Given the description of an element on the screen output the (x, y) to click on. 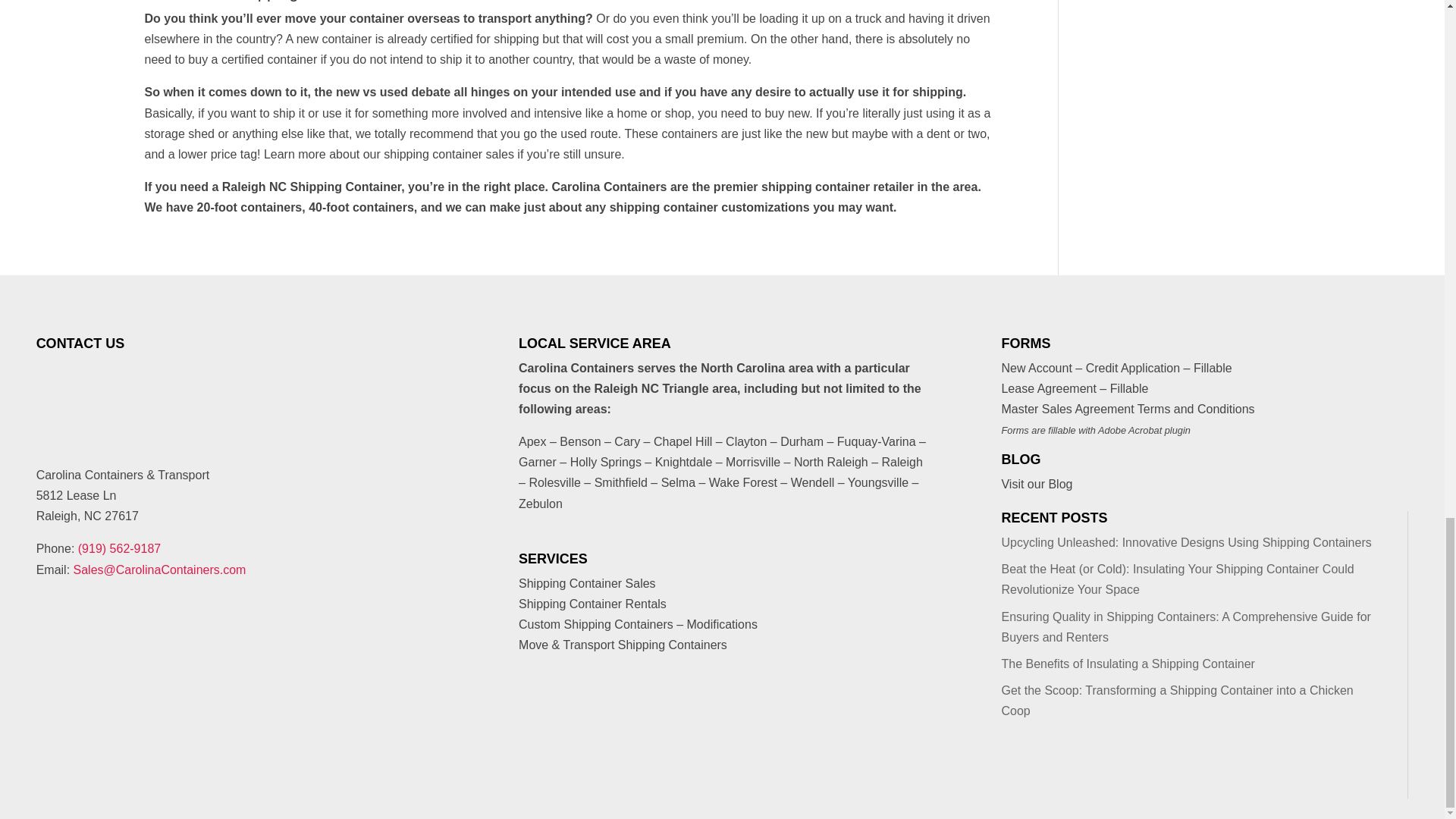
areas (591, 408)
Wake Forest (743, 481)
shipping container sales (446, 154)
Fuquay-Varina (876, 440)
Durham (802, 440)
Raleigh NC Shipping Container (311, 186)
Morrisville (752, 461)
Shipping Container Rentals (592, 603)
shipping container customizations (709, 206)
Knightdale (684, 461)
20-foot containers (249, 206)
Clayton (746, 440)
Carolina Containers (608, 186)
Apex (532, 440)
Shipping Container Sales (587, 583)
